Given the description of an element on the screen output the (x, y) to click on. 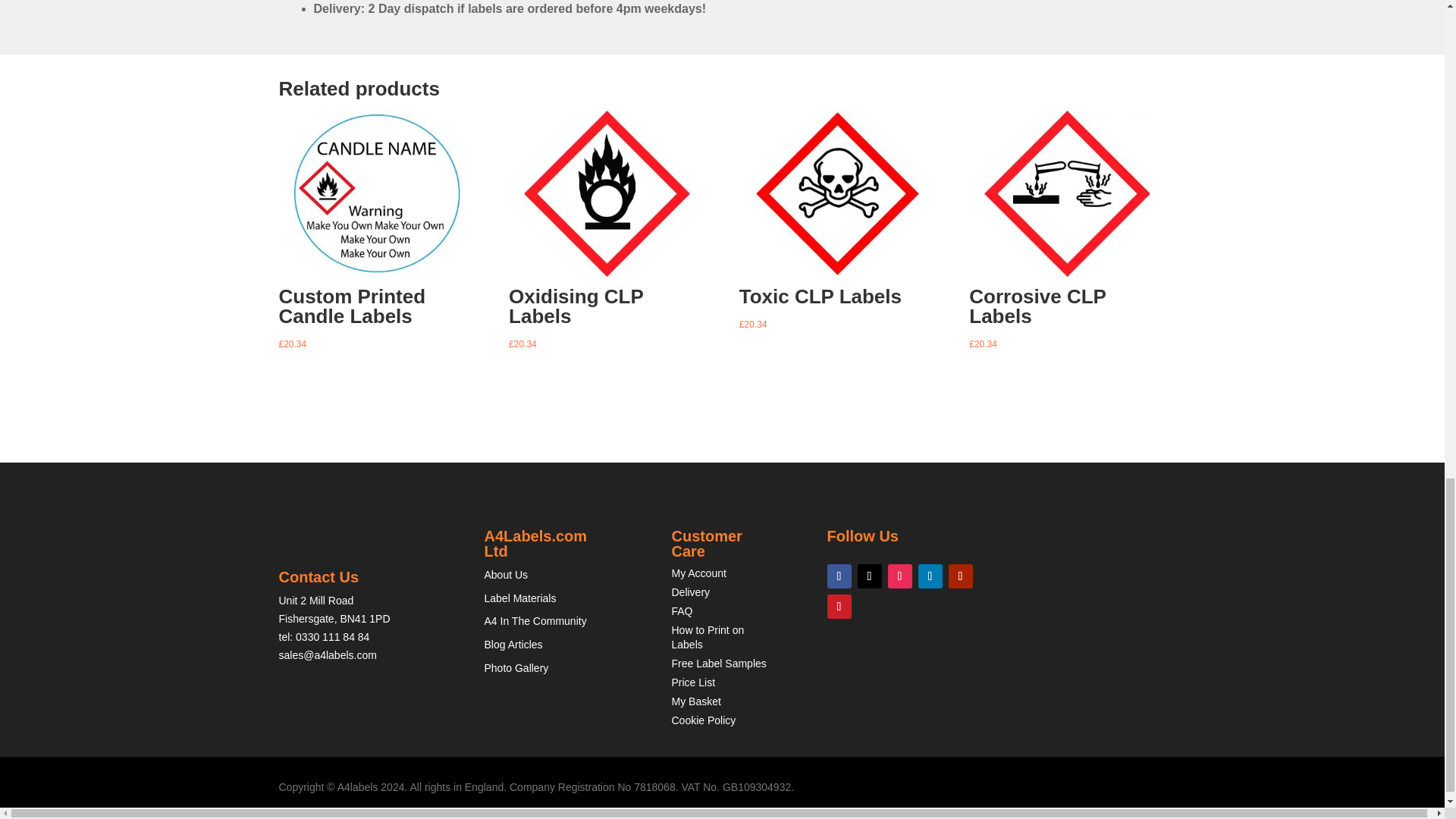
Follow on Youtube (959, 576)
Follow on Instagram (898, 576)
Follow on LinkedIn (929, 576)
Follow on X (868, 576)
Follow on Pinterest (838, 606)
Follow on Facebook (838, 576)
